Given the description of an element on the screen output the (x, y) to click on. 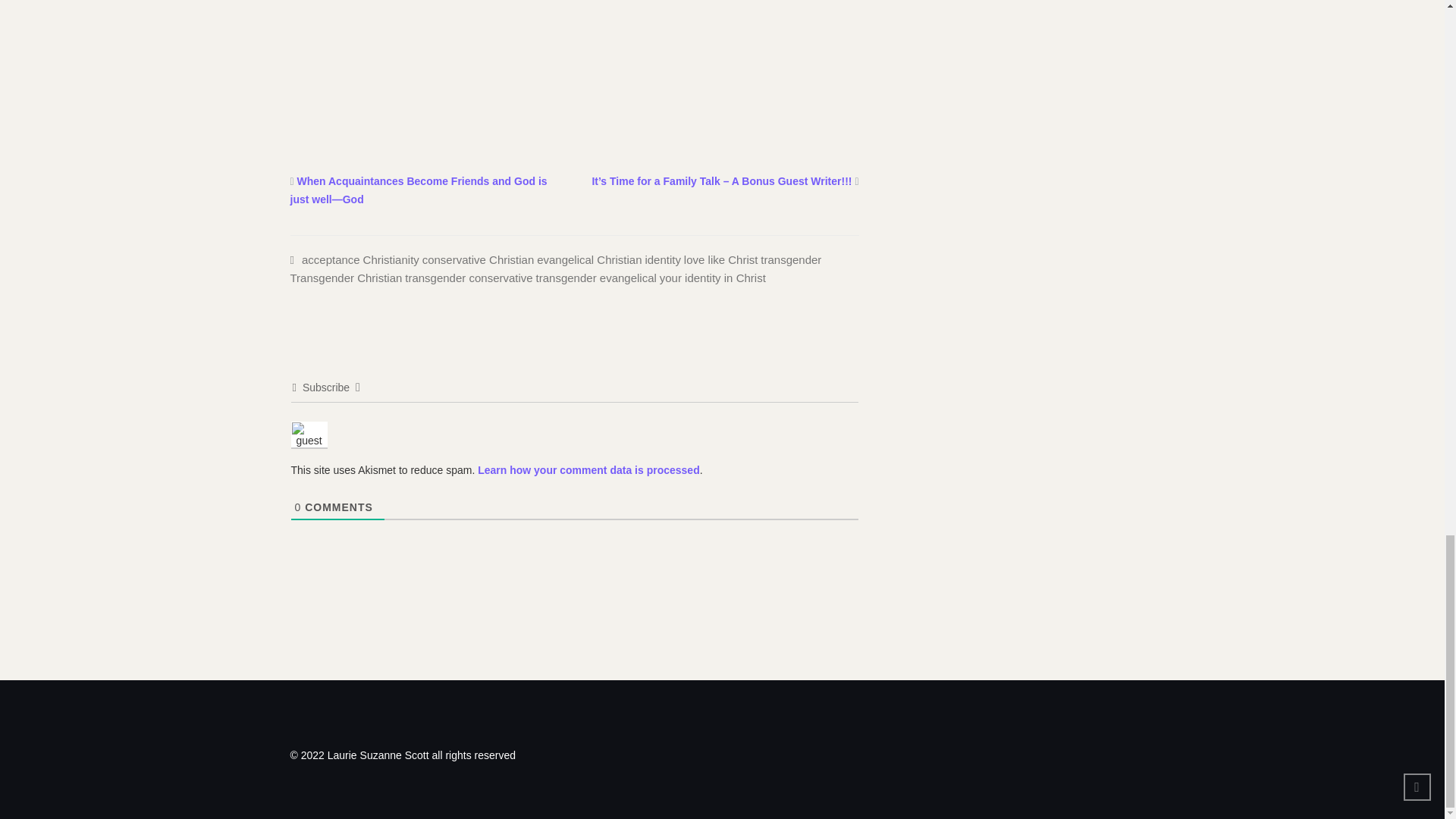
transgender conservative (468, 277)
transgender evangelical (595, 277)
your identity in Christ (712, 277)
love like Christ (721, 259)
evangelical Christian (589, 259)
identity (663, 259)
conservative Christian (478, 259)
transgender (790, 259)
Transgender Christian (345, 277)
acceptance (330, 259)
